Given the description of an element on the screen output the (x, y) to click on. 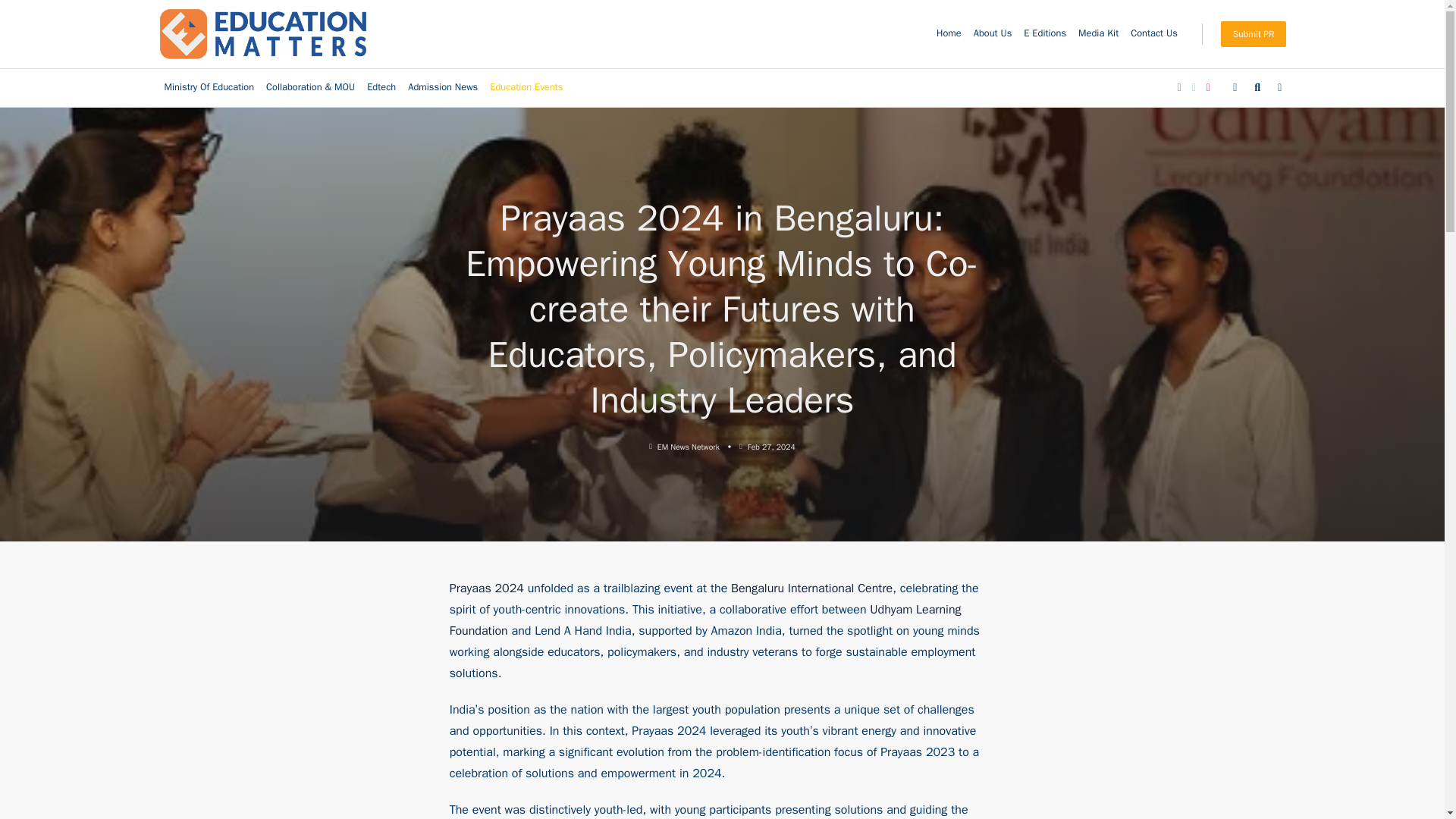
Media Kit (1097, 33)
Ministry Of Education (208, 87)
Contact Us (1153, 33)
Home (949, 33)
About Us (992, 33)
Submit PR (1254, 33)
E Editions (1044, 33)
